Given the description of an element on the screen output the (x, y) to click on. 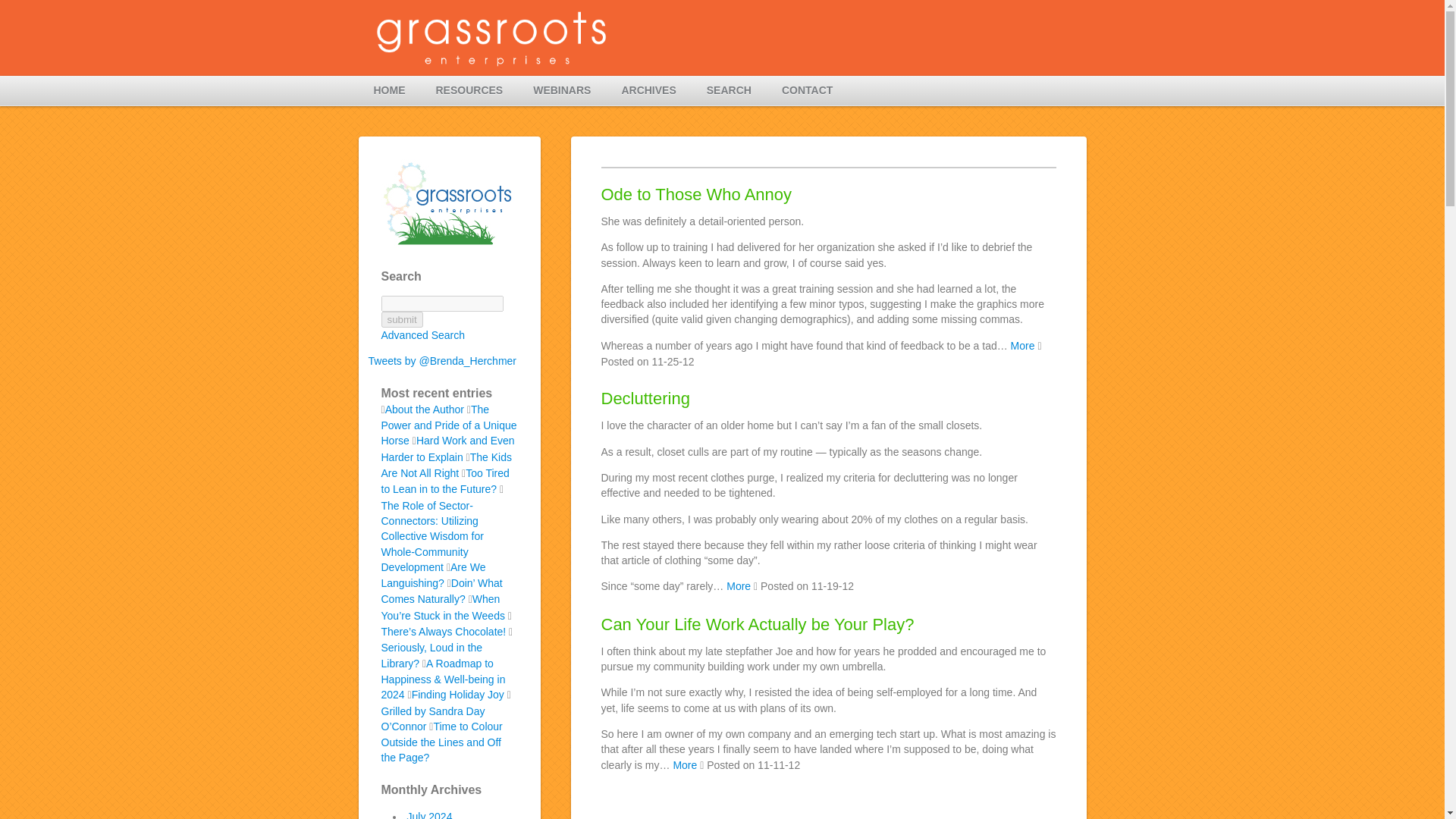
About the Author (424, 409)
Hard Work and Even Harder to Explain (446, 448)
July 2024 (428, 814)
SEARCH (729, 91)
RESOURCES (469, 91)
Are We Languishing? (432, 574)
submit (401, 319)
HOME (389, 91)
The Power and Pride of a Unique Horse (448, 425)
submit (401, 319)
CONTACT (807, 91)
Seriously, Loud in the Library? (430, 655)
Time to Colour Outside the Lines and Off the Page? (441, 742)
ARCHIVES (647, 91)
